Given the description of an element on the screen output the (x, y) to click on. 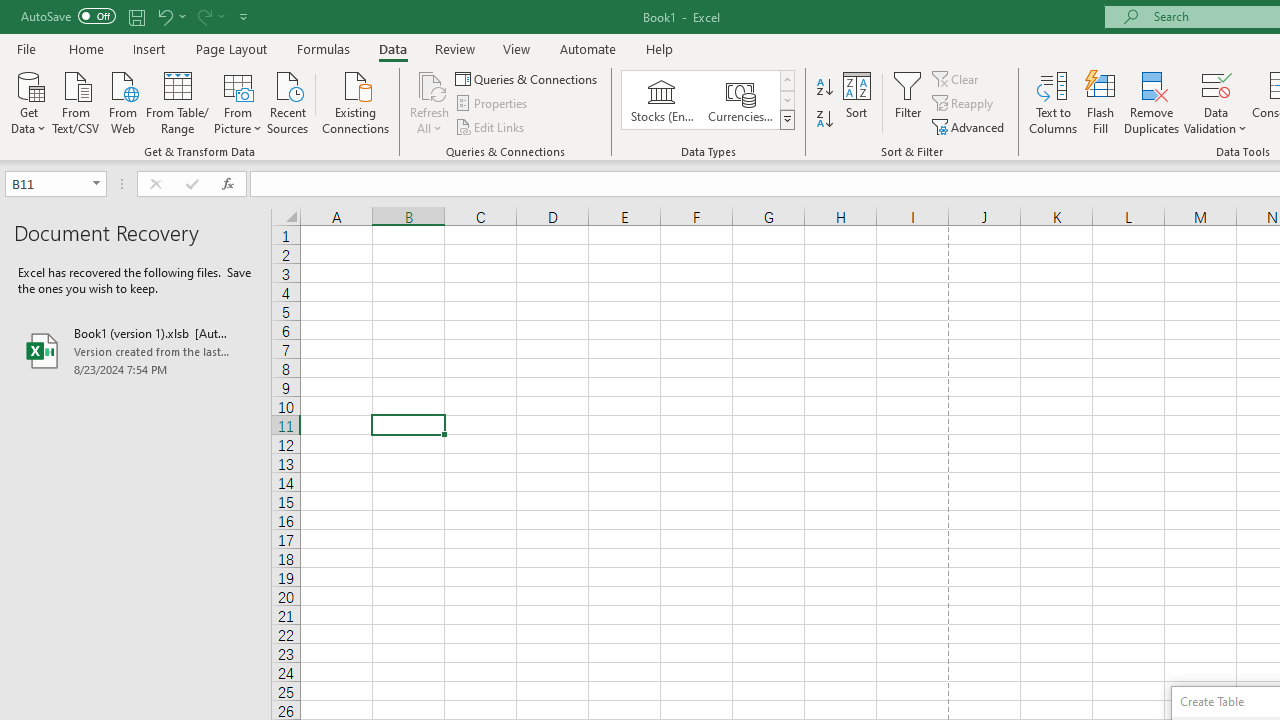
Data Types (786, 120)
Clear (957, 78)
Quick Access Toolbar (136, 16)
Class: NetUIImage (787, 119)
Edit Links (491, 126)
Properties (492, 103)
Data Validation... (1215, 102)
AutoSave (68, 16)
Row up (786, 79)
Home (86, 48)
Data (392, 48)
